Given the description of an element on the screen output the (x, y) to click on. 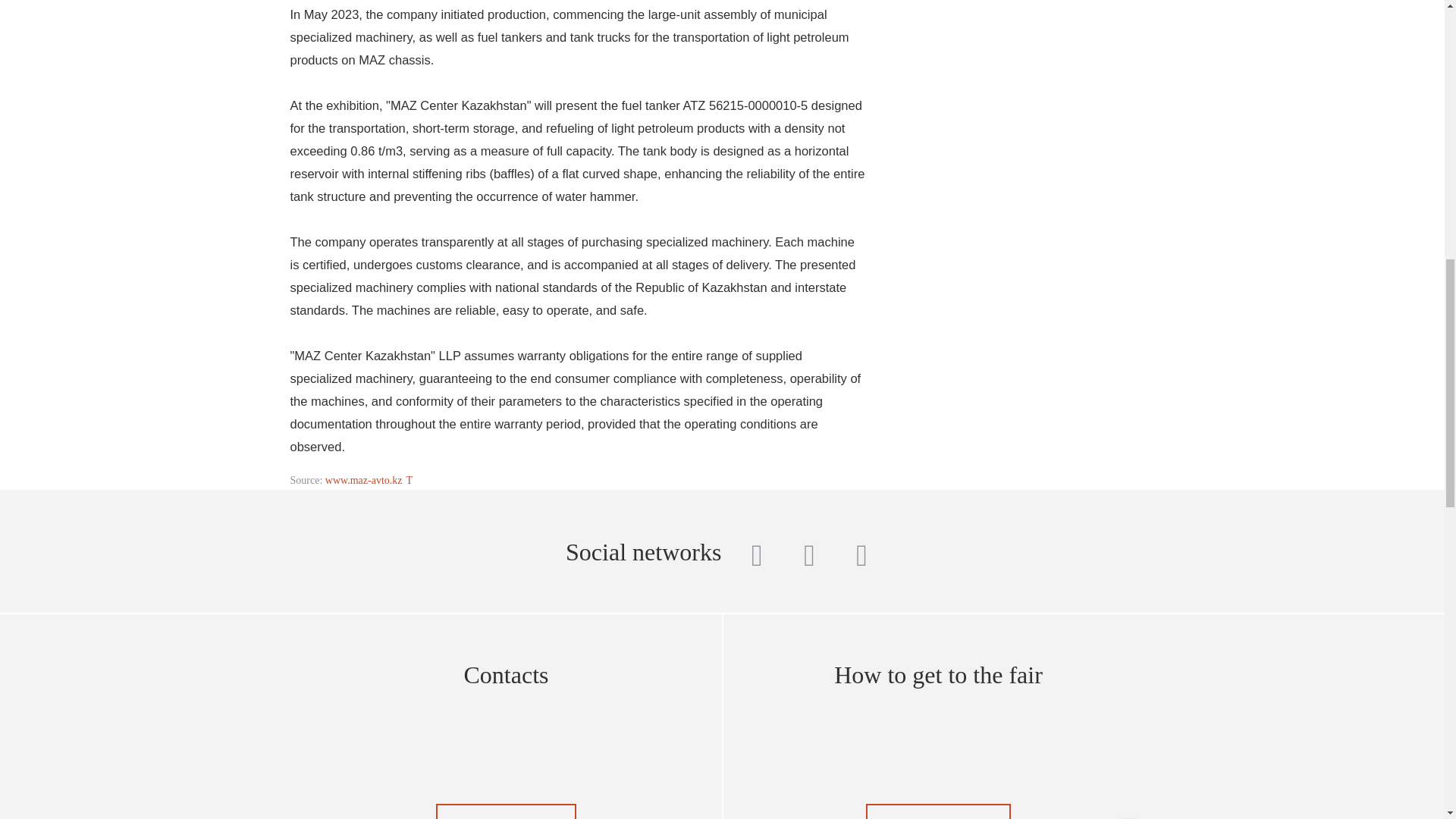
www.maz-avto.kz (368, 480)
CONTACT US (505, 811)
LEARN MORE (938, 811)
